Given the description of an element on the screen output the (x, y) to click on. 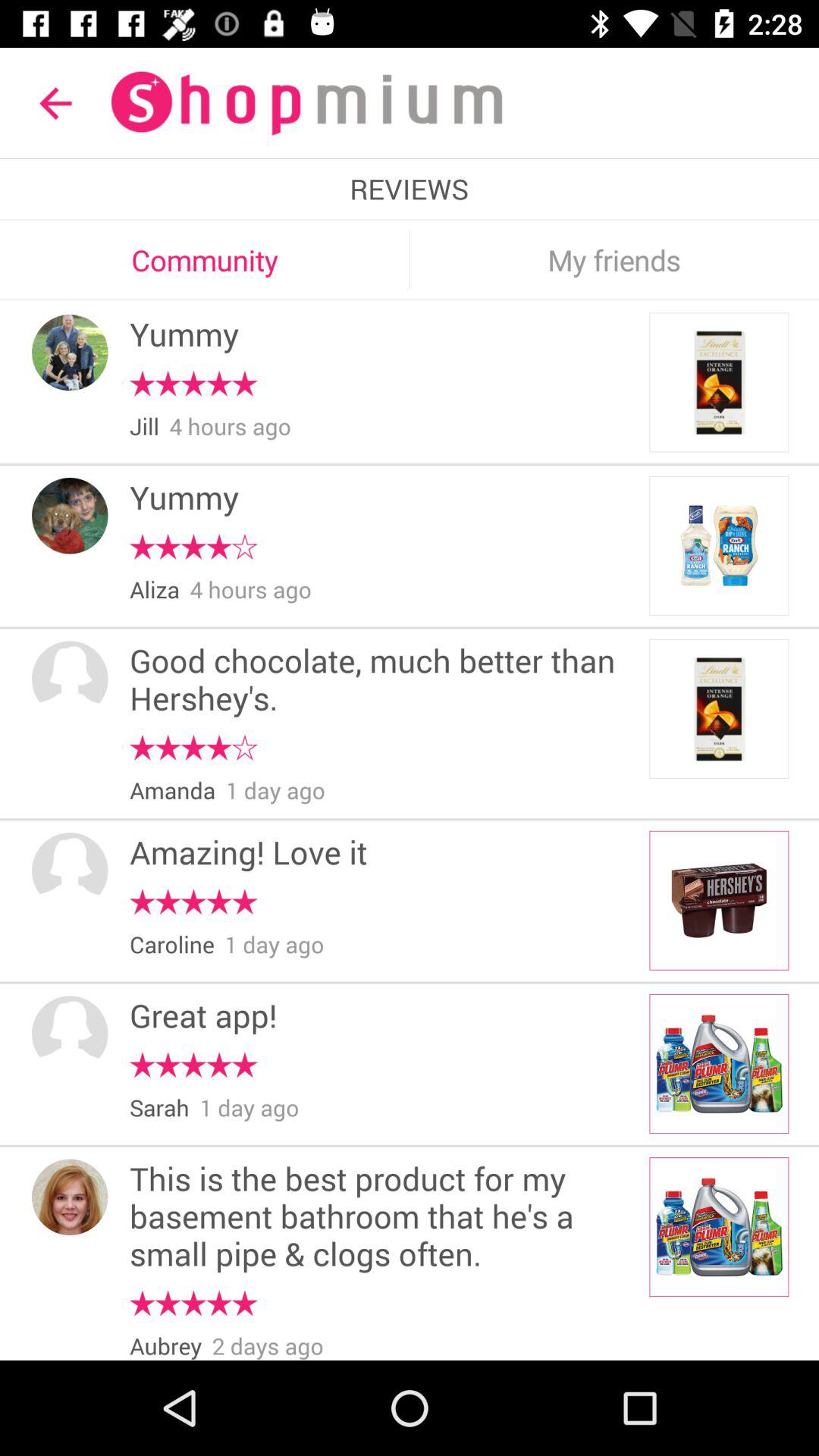
turn on item next to the yummy icon (69, 515)
